Given the description of an element on the screen output the (x, y) to click on. 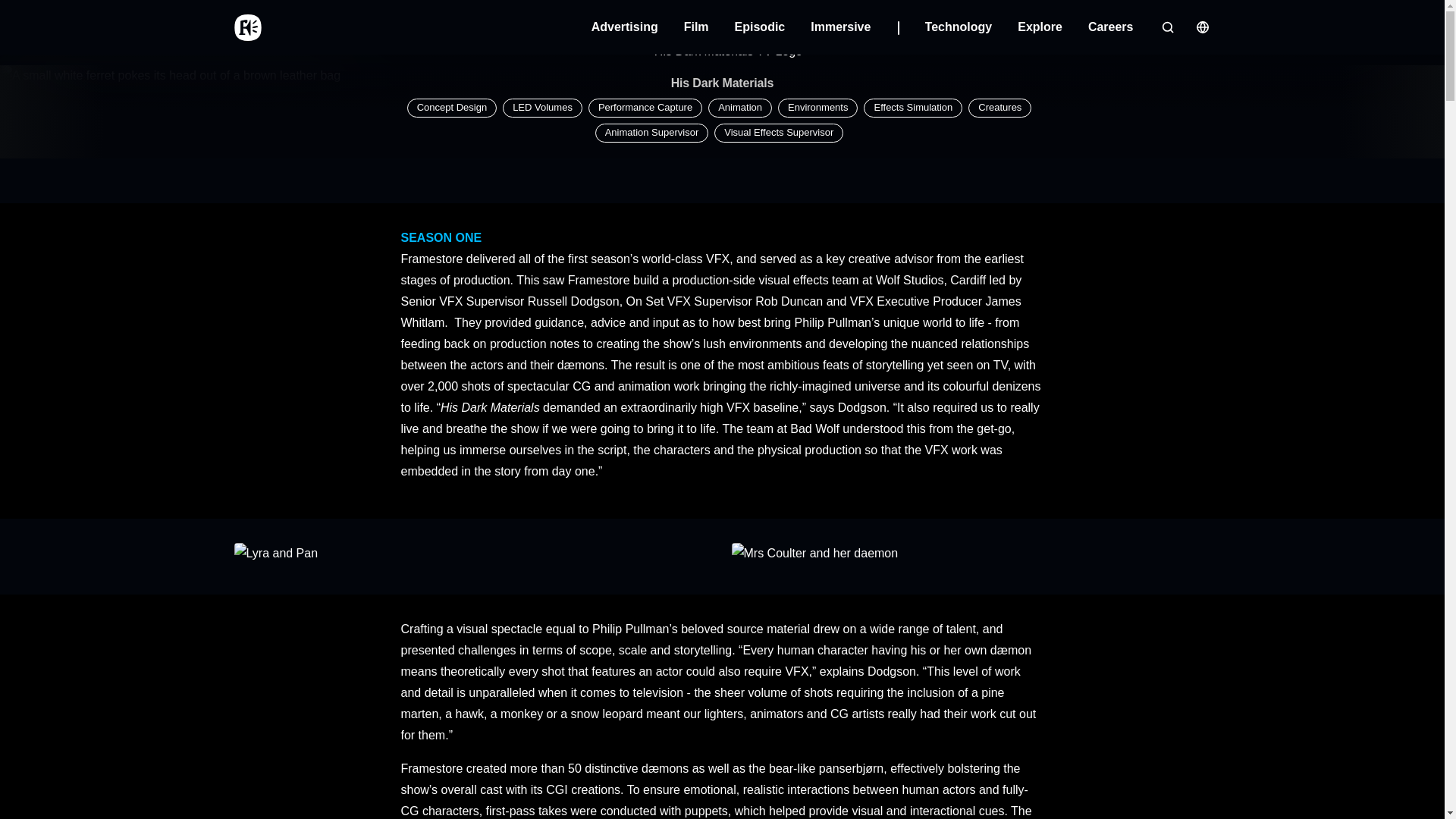
Technology (958, 26)
Film (696, 26)
Advertising (624, 26)
Search (1166, 27)
Home (246, 27)
Episodic (760, 26)
Immersive (854, 26)
Languages (1201, 27)
